Given the description of an element on the screen output the (x, y) to click on. 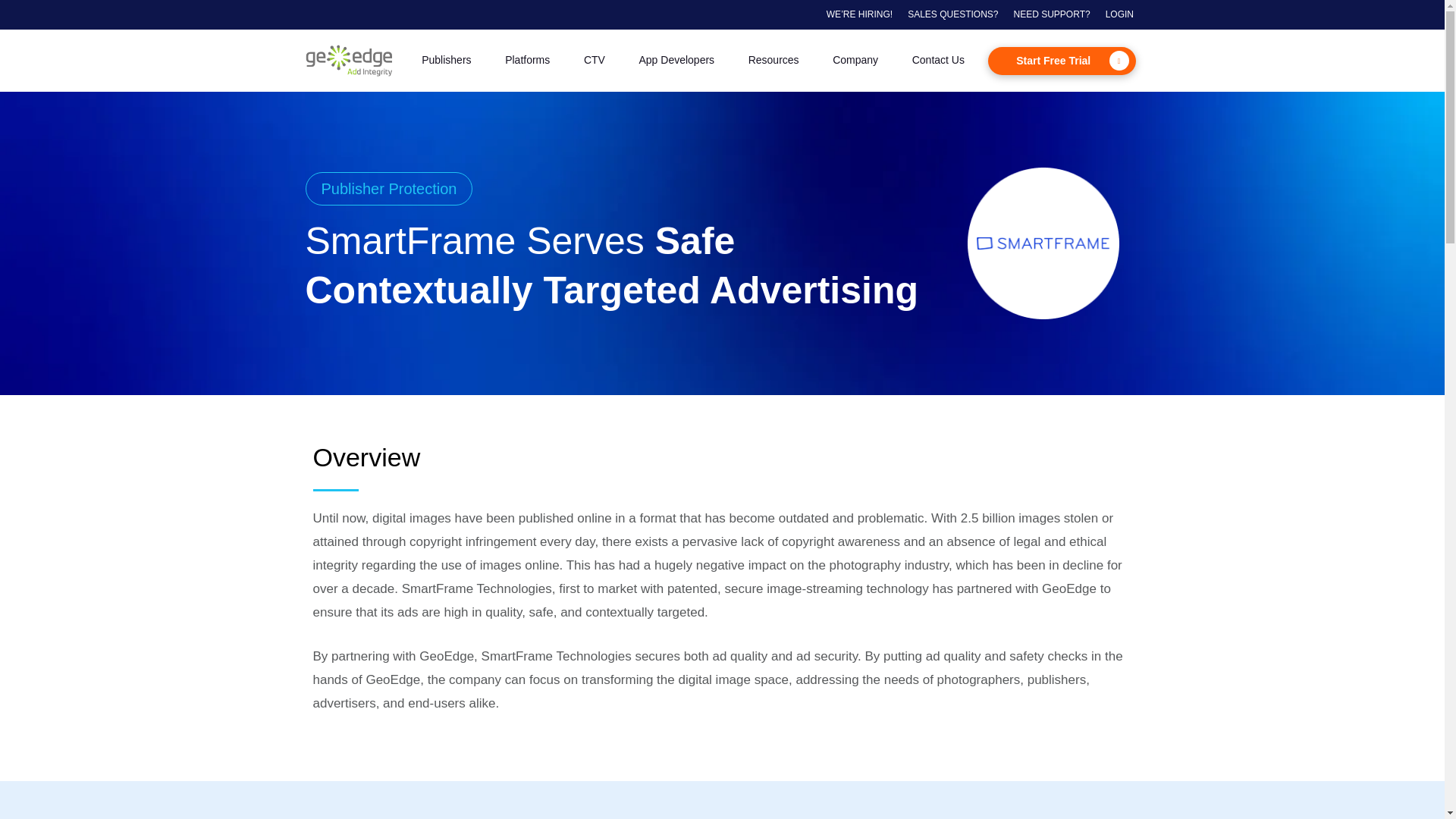
Platforms (527, 60)
Start Free Trial (1061, 60)
App Developers (675, 60)
SALES QUESTIONS? (952, 14)
Contact Us (938, 60)
LOGIN (1119, 14)
NEED SUPPORT? (1051, 14)
Resources (772, 60)
CTV (595, 60)
Company (855, 60)
